Given the description of an element on the screen output the (x, y) to click on. 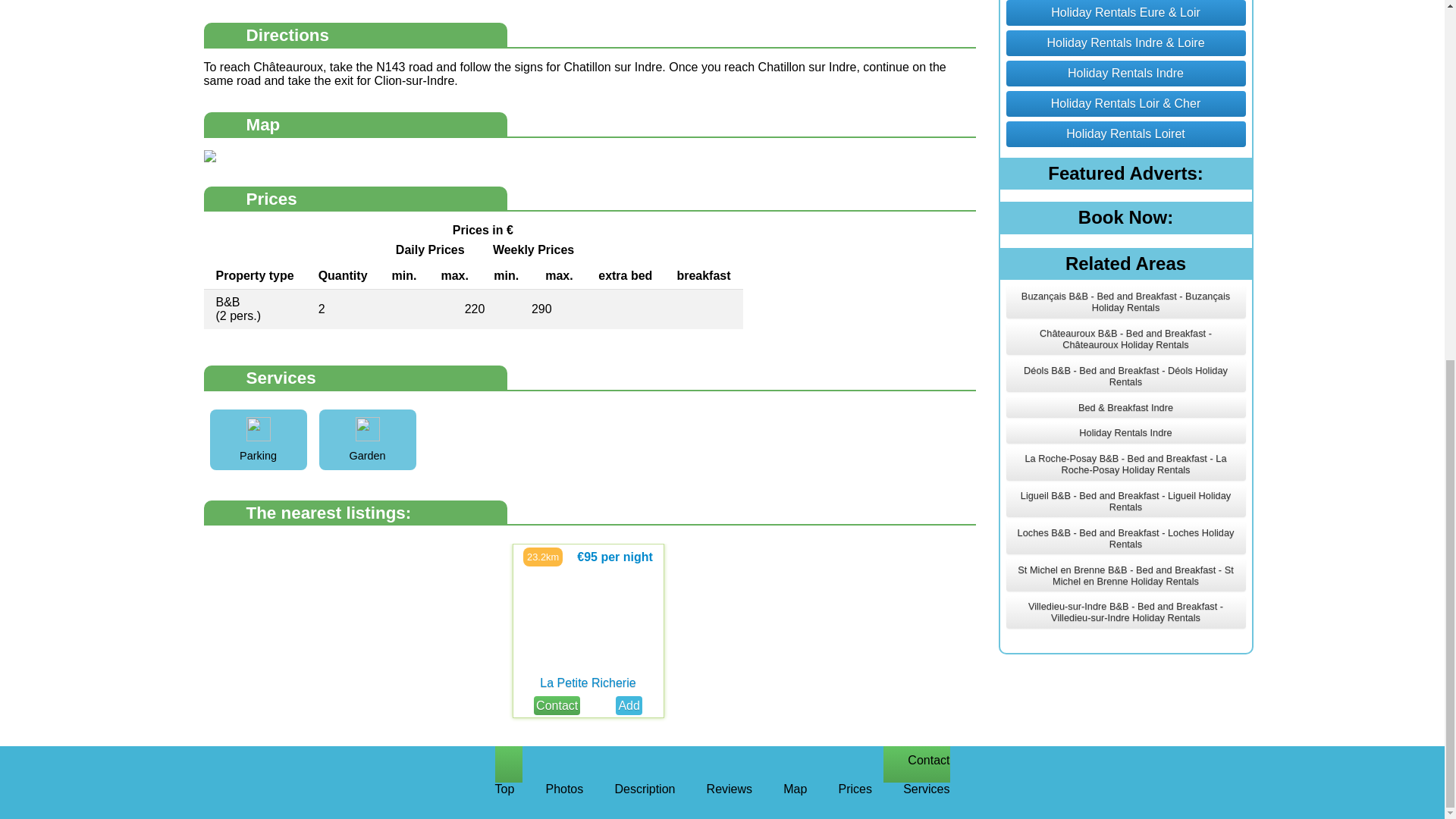
Services (925, 162)
Contact (557, 705)
Prices (855, 162)
Holiday Rentals Indre (1125, 73)
Photos (563, 162)
La Petite Richerie (587, 683)
Holiday Rentals Loiret (1125, 134)
Reviews (729, 162)
Add (628, 705)
Description (644, 162)
